Given the description of an element on the screen output the (x, y) to click on. 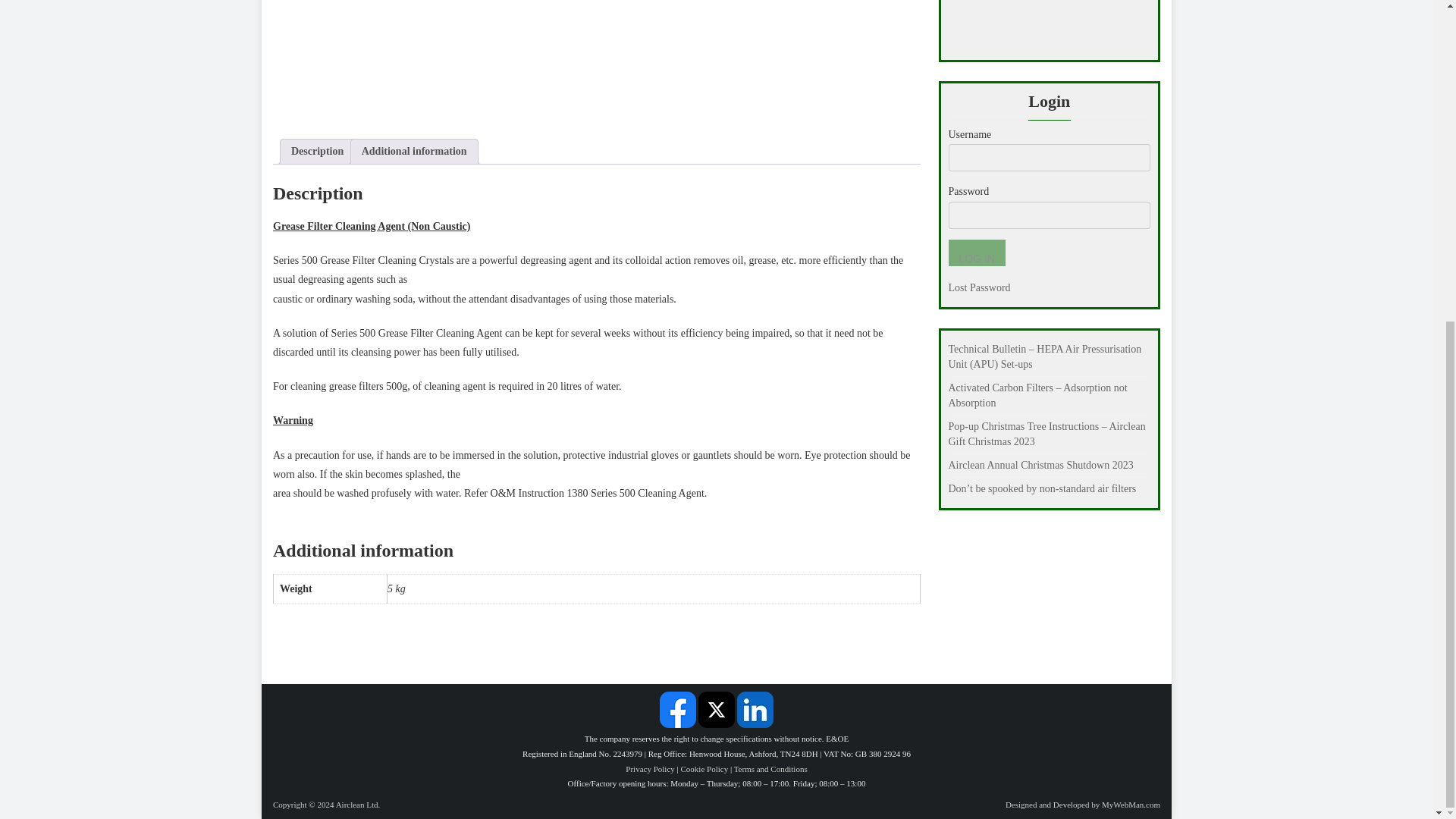
Log In (975, 252)
